Given the description of an element on the screen output the (x, y) to click on. 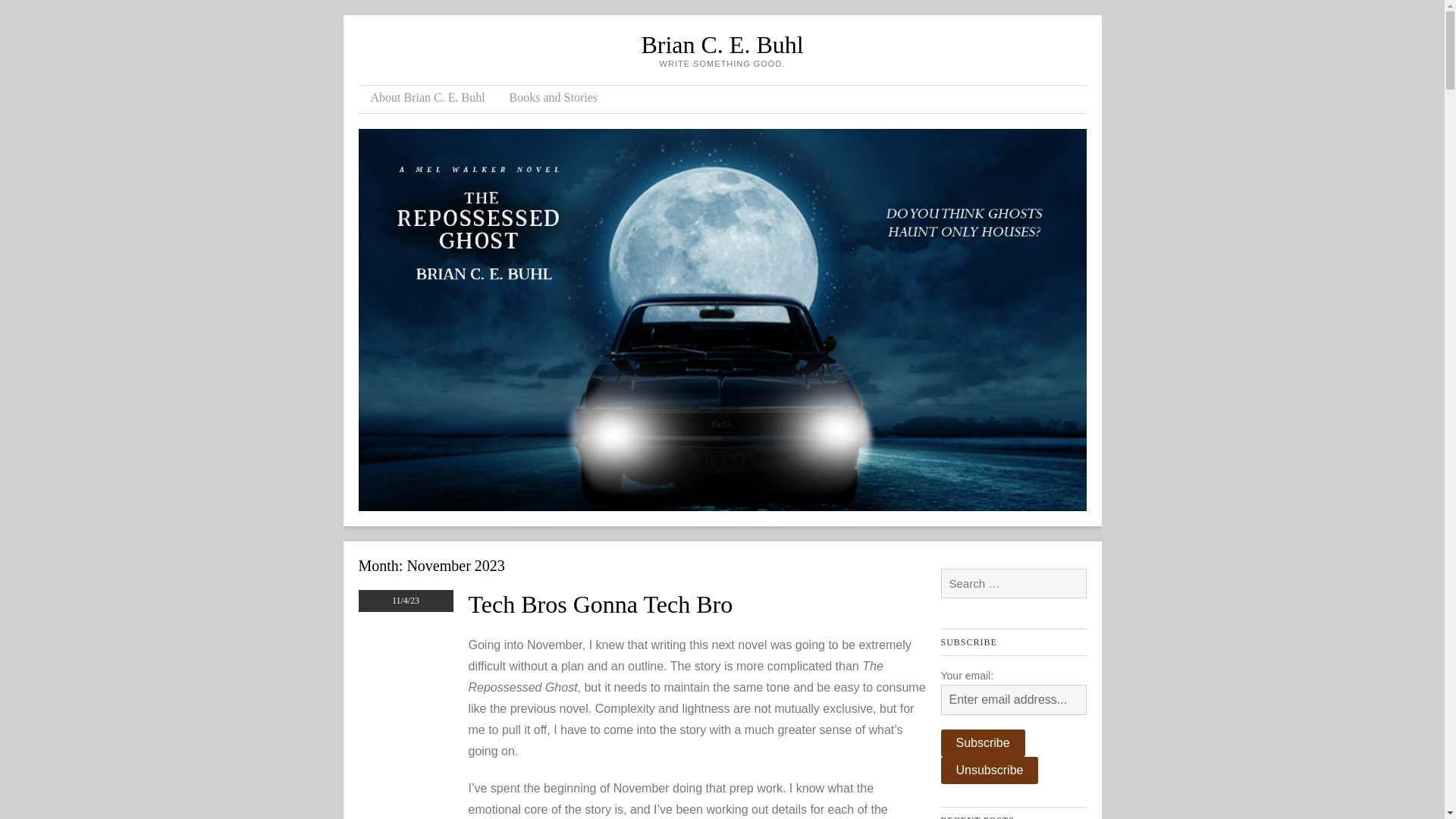
Unsubscribe (989, 769)
About Brian C. E. Buhl (427, 99)
Books and Stories (553, 99)
Tech Bros Gonna Tech Bro (600, 604)
Enter email address... (1013, 699)
Subscribe (982, 742)
Unsubscribe (989, 769)
Subscribe (982, 742)
Permalink to Tech Bros Gonna Tech Bro (600, 604)
Brian C. E. Buhl (721, 44)
